Given the description of an element on the screen output the (x, y) to click on. 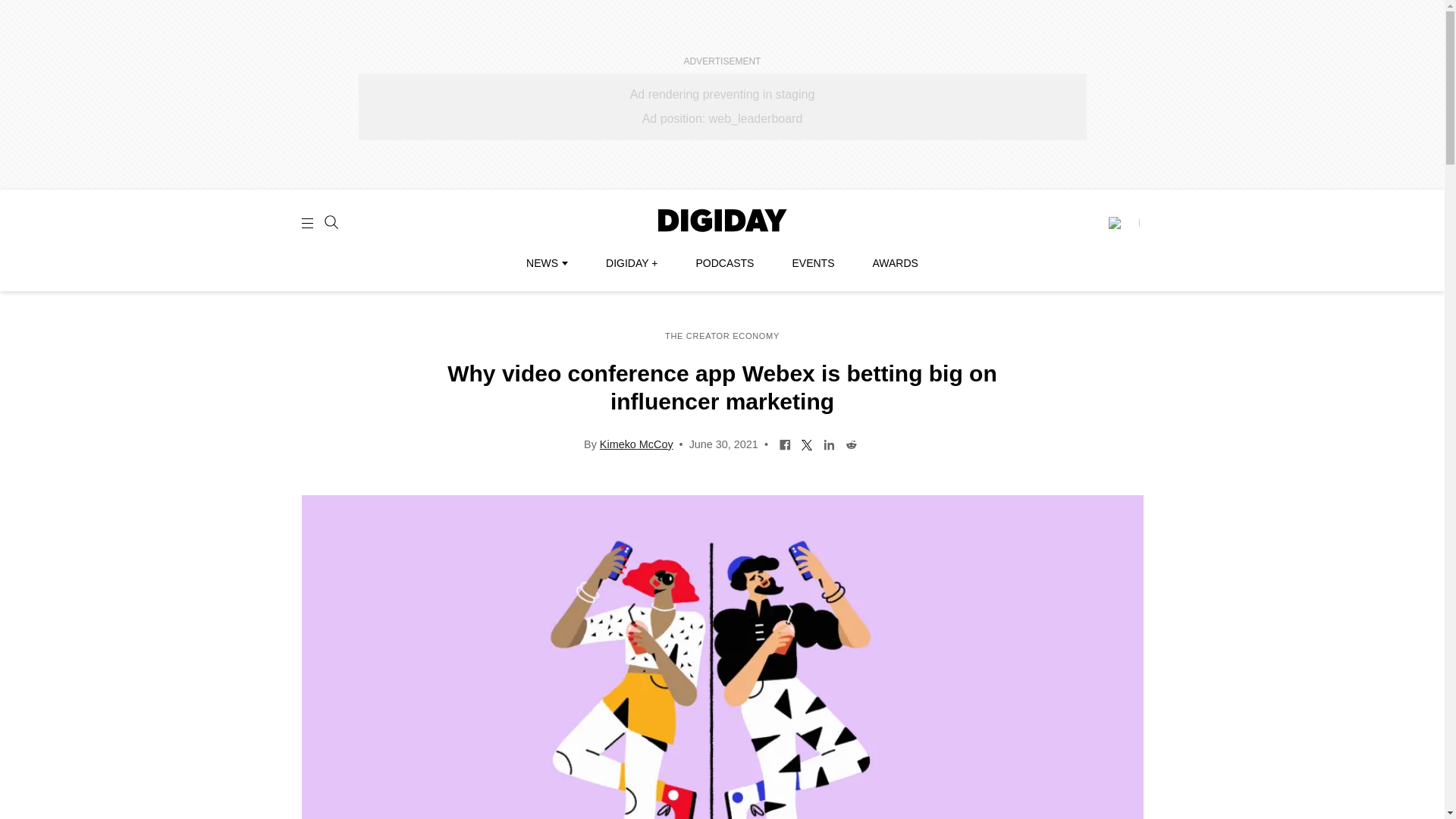
Share on Reddit (850, 443)
Share on Facebook (785, 443)
Share on Twitter (806, 443)
Subscribe (1123, 223)
AWARDS (894, 262)
PODCASTS (725, 262)
Share on LinkedIn (828, 443)
NEWS (546, 262)
EVENTS (813, 262)
